Given the description of an element on the screen output the (x, y) to click on. 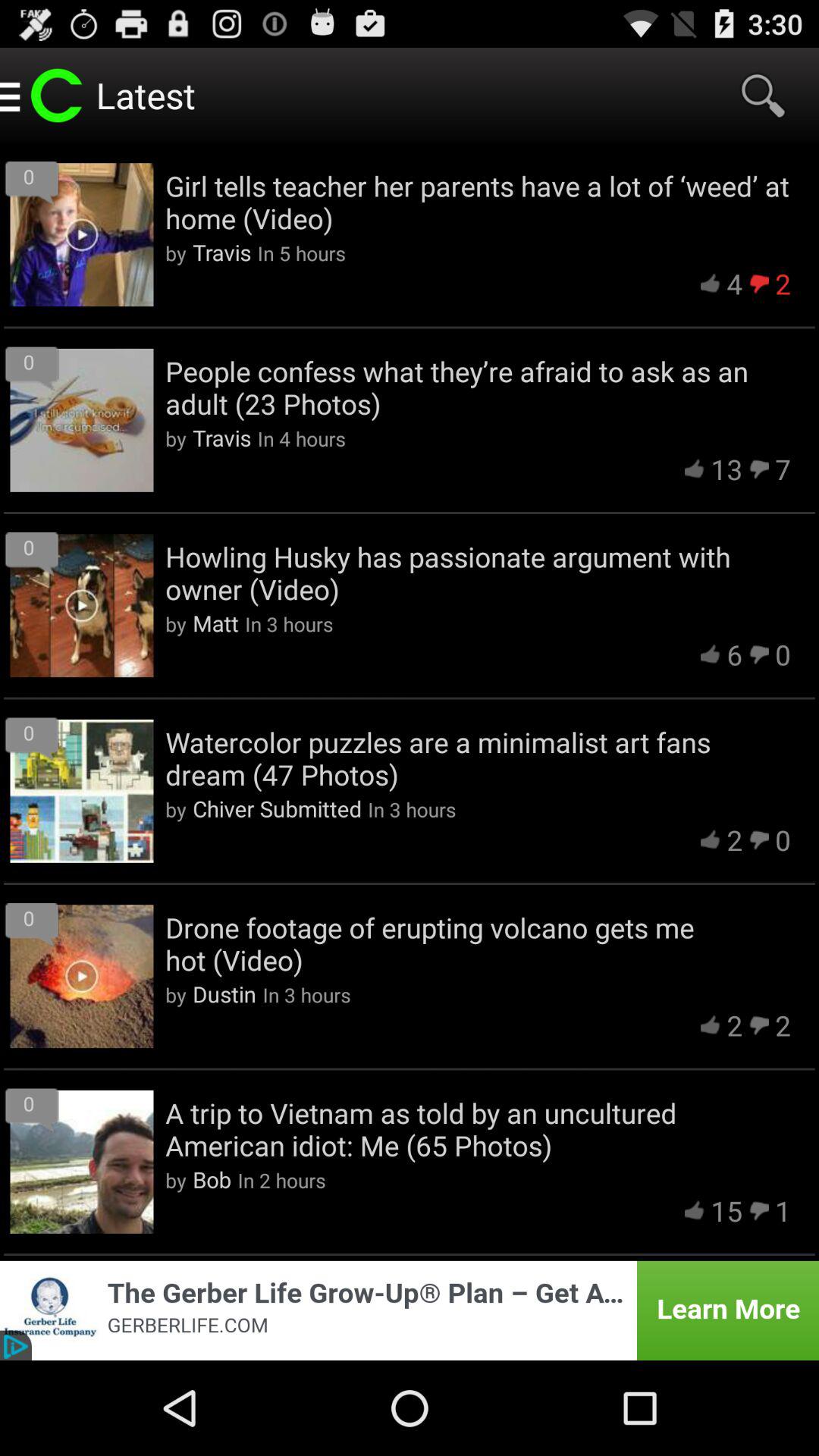
turn on item above the a trip to item (224, 993)
